Given the description of an element on the screen output the (x, y) to click on. 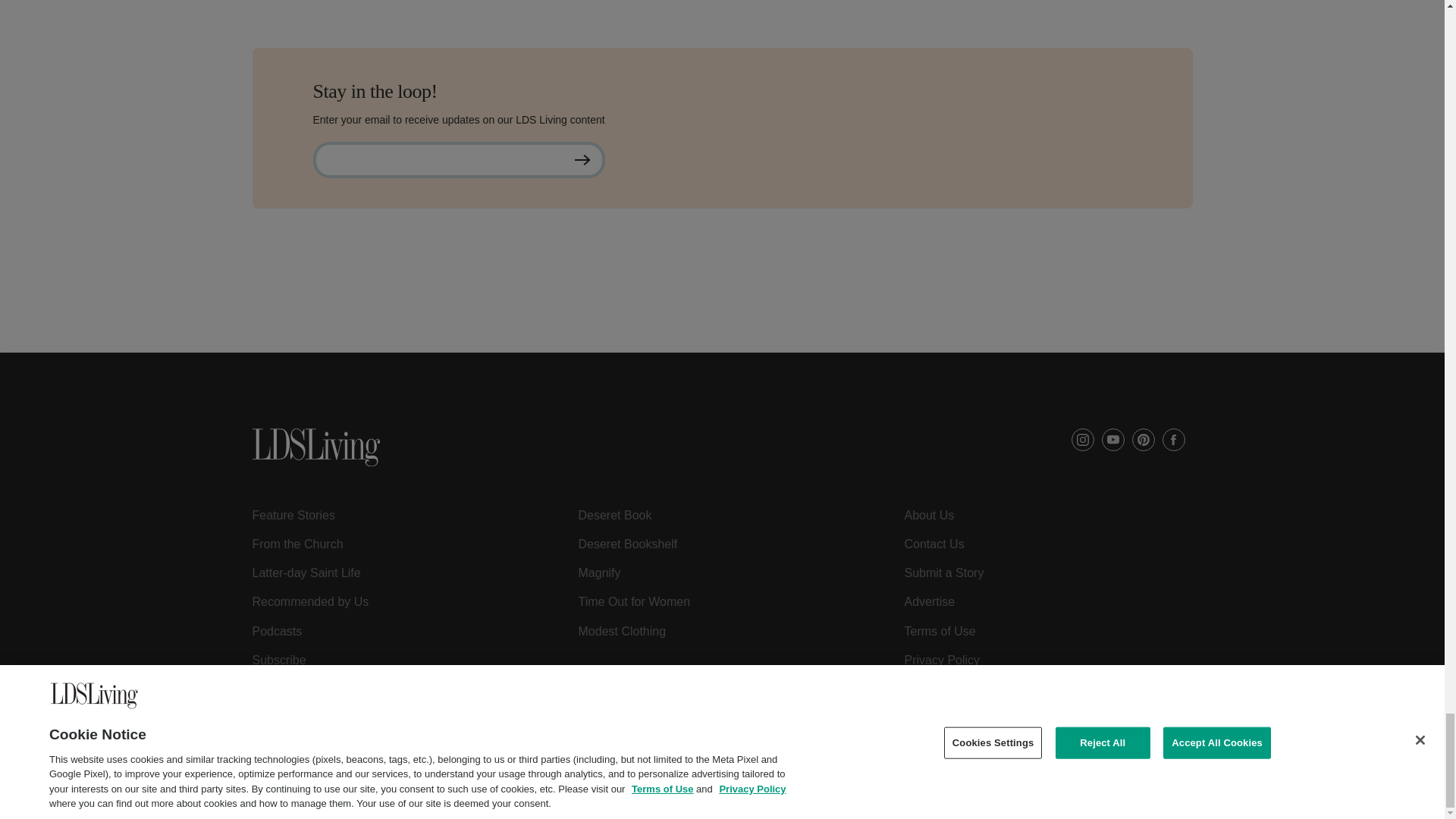
3rd party ad content (721, 318)
